Given the description of an element on the screen output the (x, y) to click on. 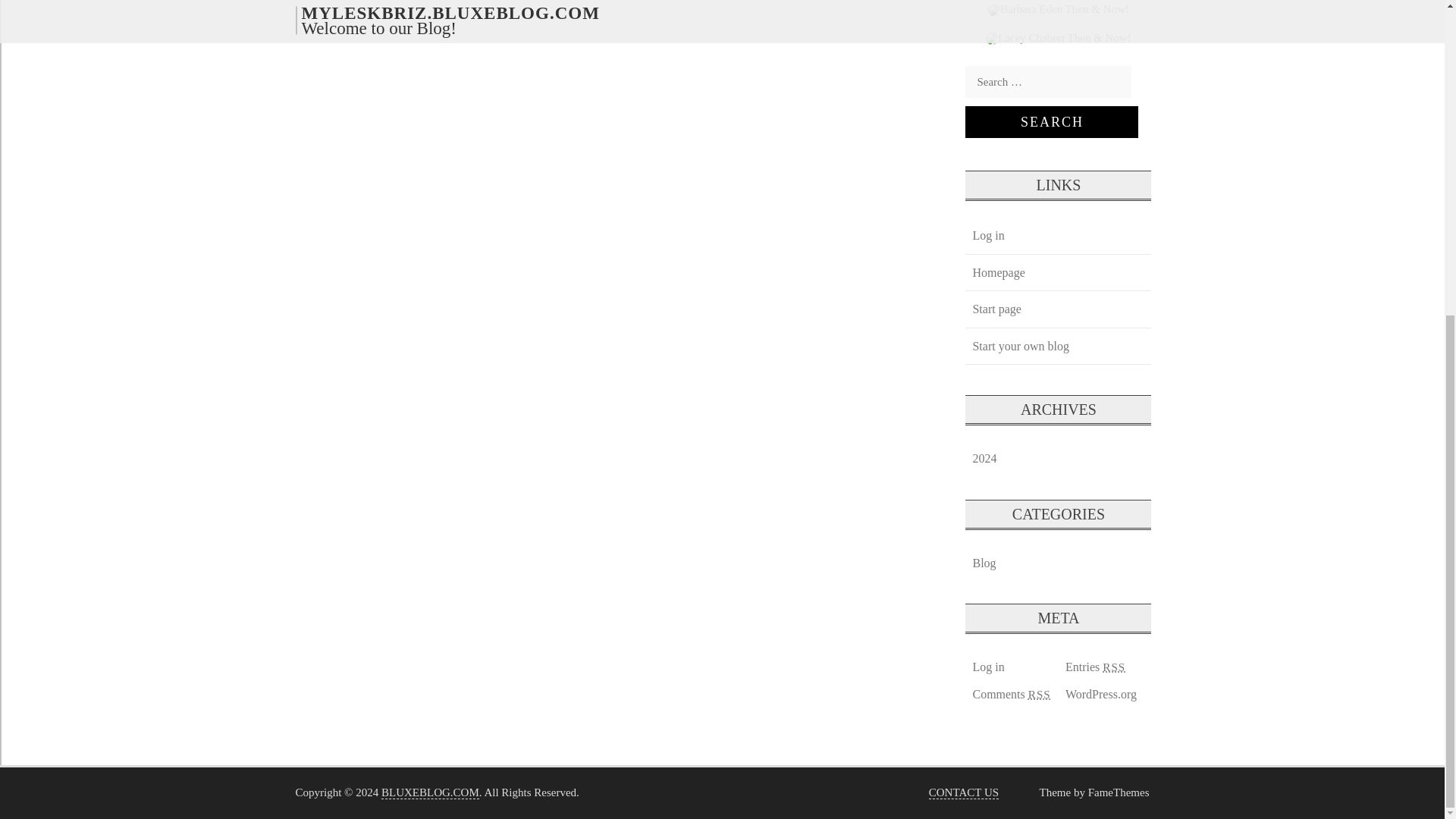
Start page (996, 308)
Entries RSS (1095, 666)
Homepage (997, 272)
2024 (984, 458)
Search (1051, 122)
Search (1051, 122)
Really Simple Syndication (1113, 666)
Really Simple Syndication (1039, 694)
Log in (987, 234)
WordPress.org (1100, 693)
Blog (984, 562)
Search (1051, 122)
Comments RSS (1011, 693)
Start your own blog (1020, 345)
